Given the description of an element on the screen output the (x, y) to click on. 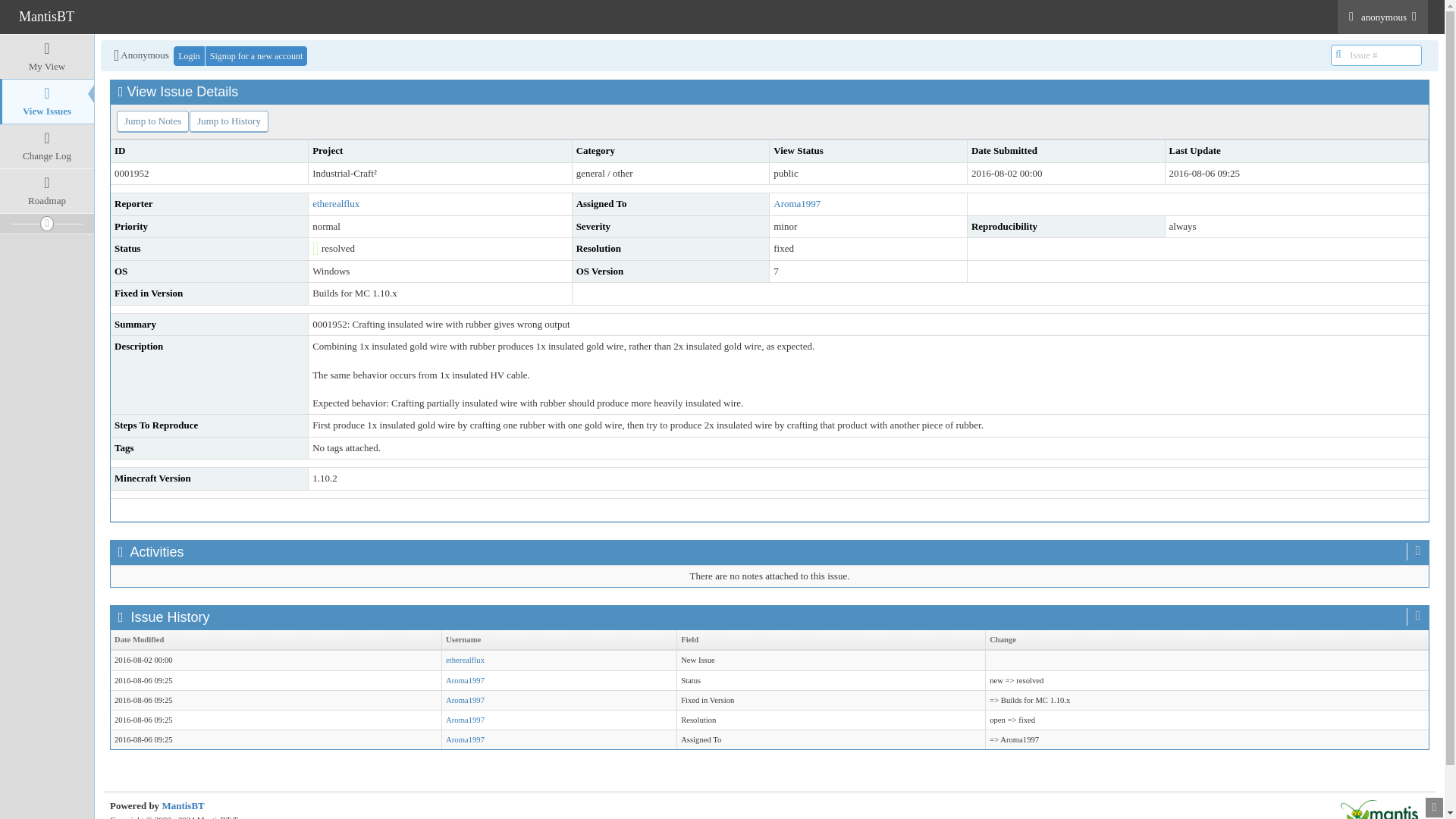
Jump to History (228, 121)
View Issues (47, 101)
Signup for a new account (256, 55)
My View (47, 56)
etherealflux (464, 660)
Change Log (47, 146)
etherealflux (336, 203)
Aroma1997 (464, 700)
Aroma1997 (464, 680)
Aroma1997 (464, 739)
